Given the description of an element on the screen output the (x, y) to click on. 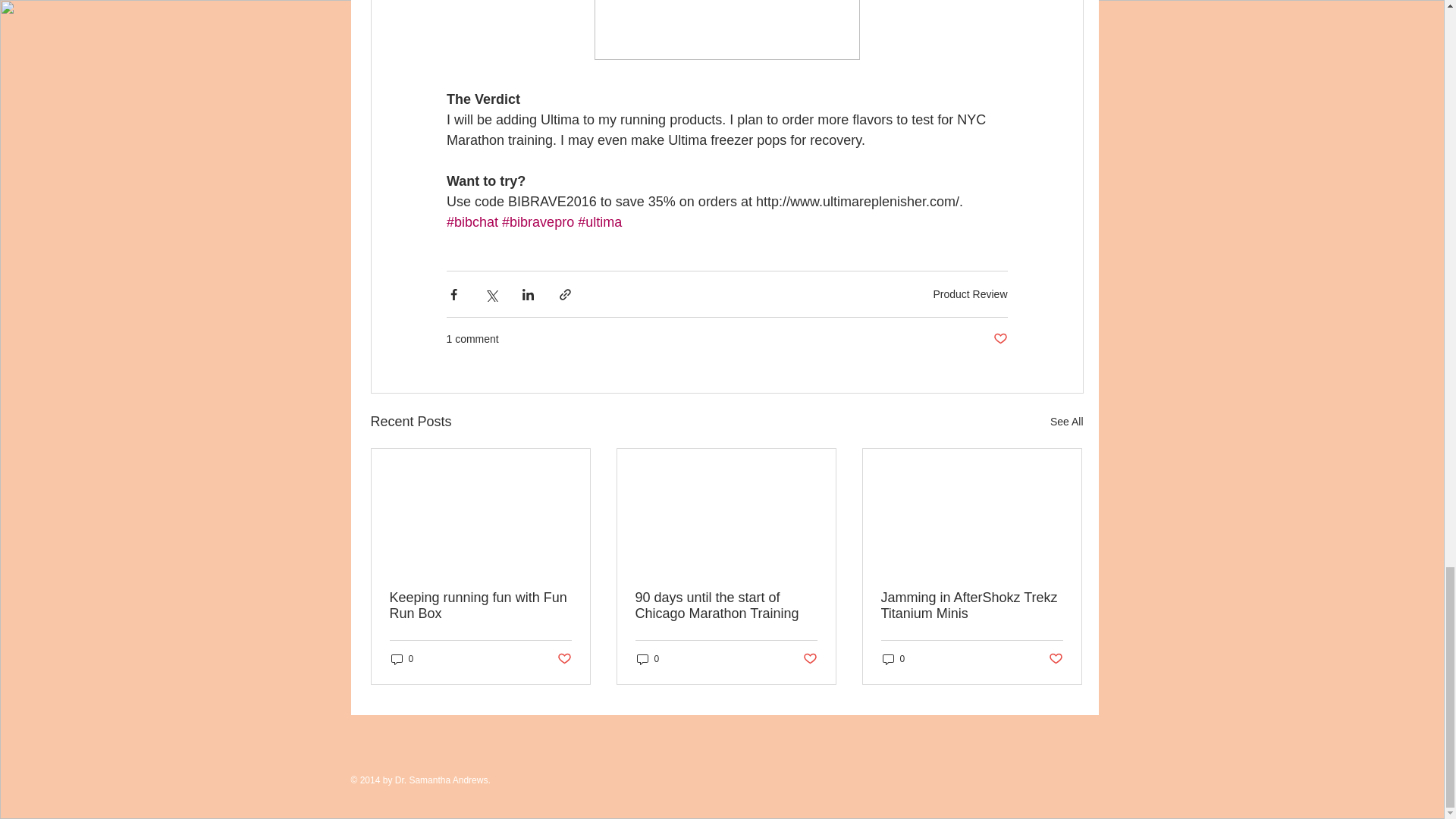
Post not marked as liked (809, 659)
Product Review (970, 294)
0 (647, 658)
Post not marked as liked (1055, 659)
0 (402, 658)
See All (1066, 422)
90 days until the start of Chicago Marathon Training (725, 605)
Jamming in AfterShokz Trekz Titanium Minis (971, 605)
Post not marked as liked (563, 659)
Post not marked as liked (999, 339)
